Given the description of an element on the screen output the (x, y) to click on. 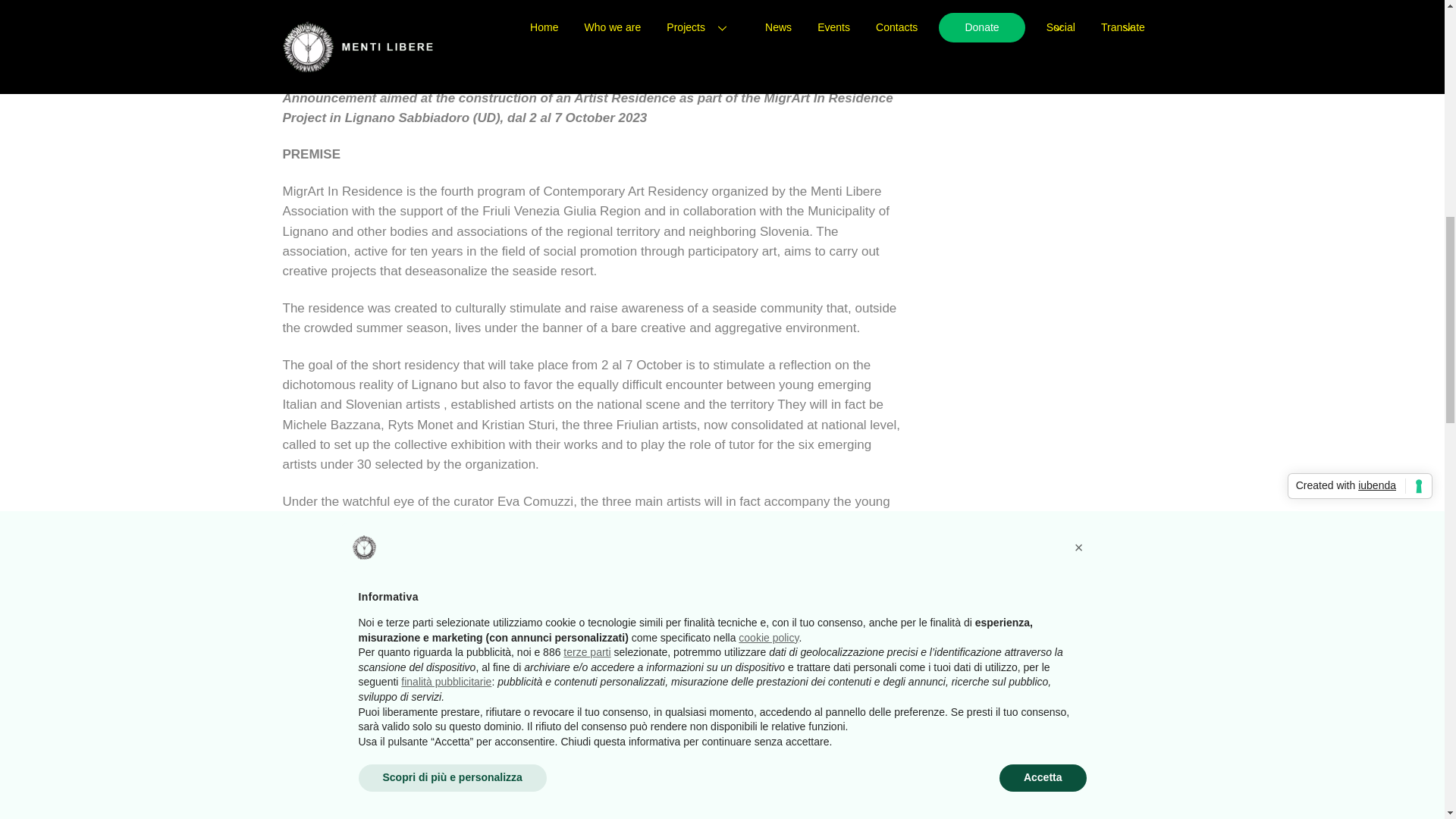
Migrart in Residence (732, 66)
Others (544, 66)
Blog (381, 66)
Lignano Sabbiadoro (620, 66)
MIR4 (805, 66)
MigrArt in Residence (452, 66)
